Given the description of an element on the screen output the (x, y) to click on. 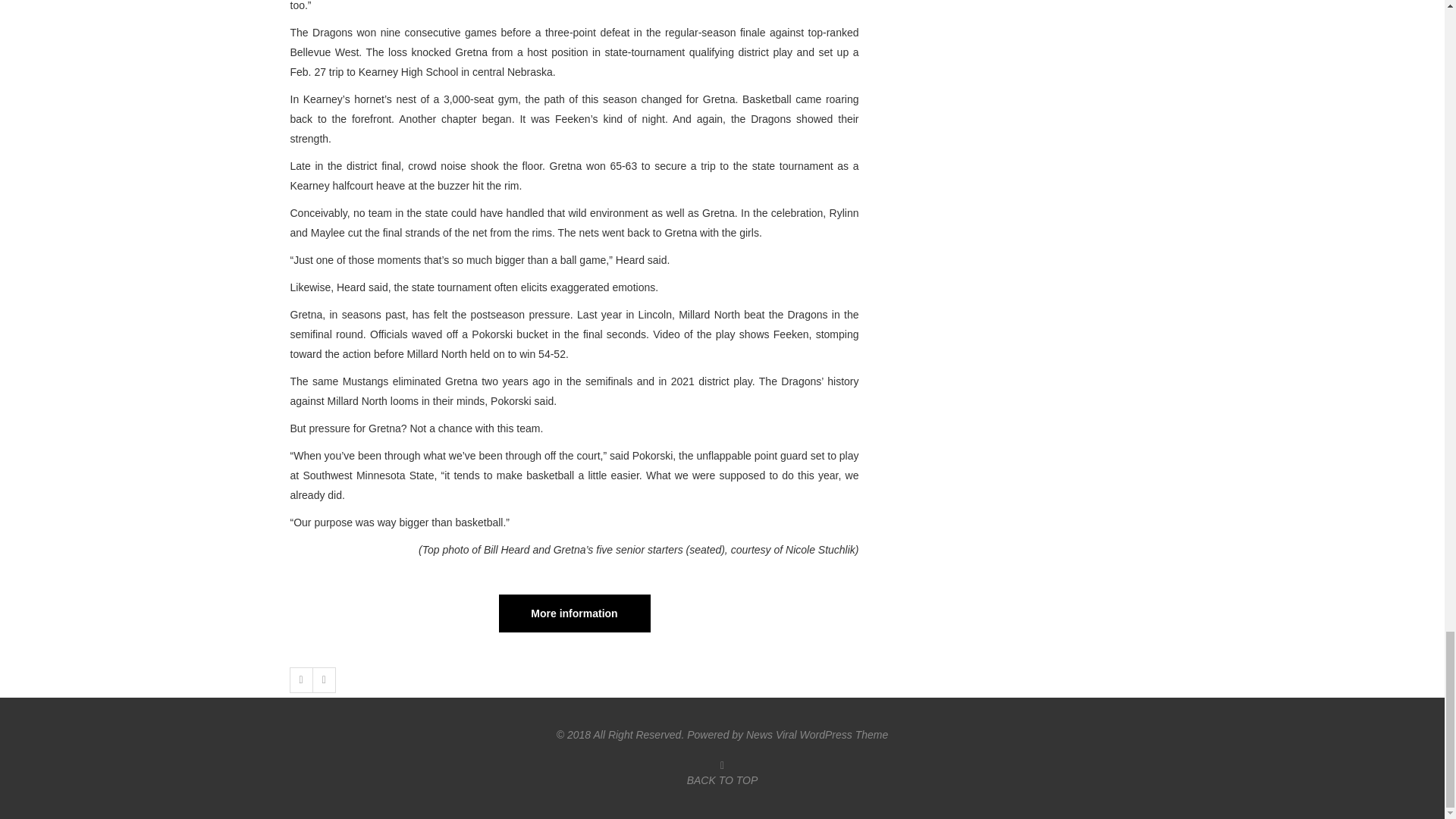
News Viral WordPress Theme (816, 734)
BACK TO TOP (722, 772)
More information (574, 613)
Back to top (722, 772)
